Given the description of an element on the screen output the (x, y) to click on. 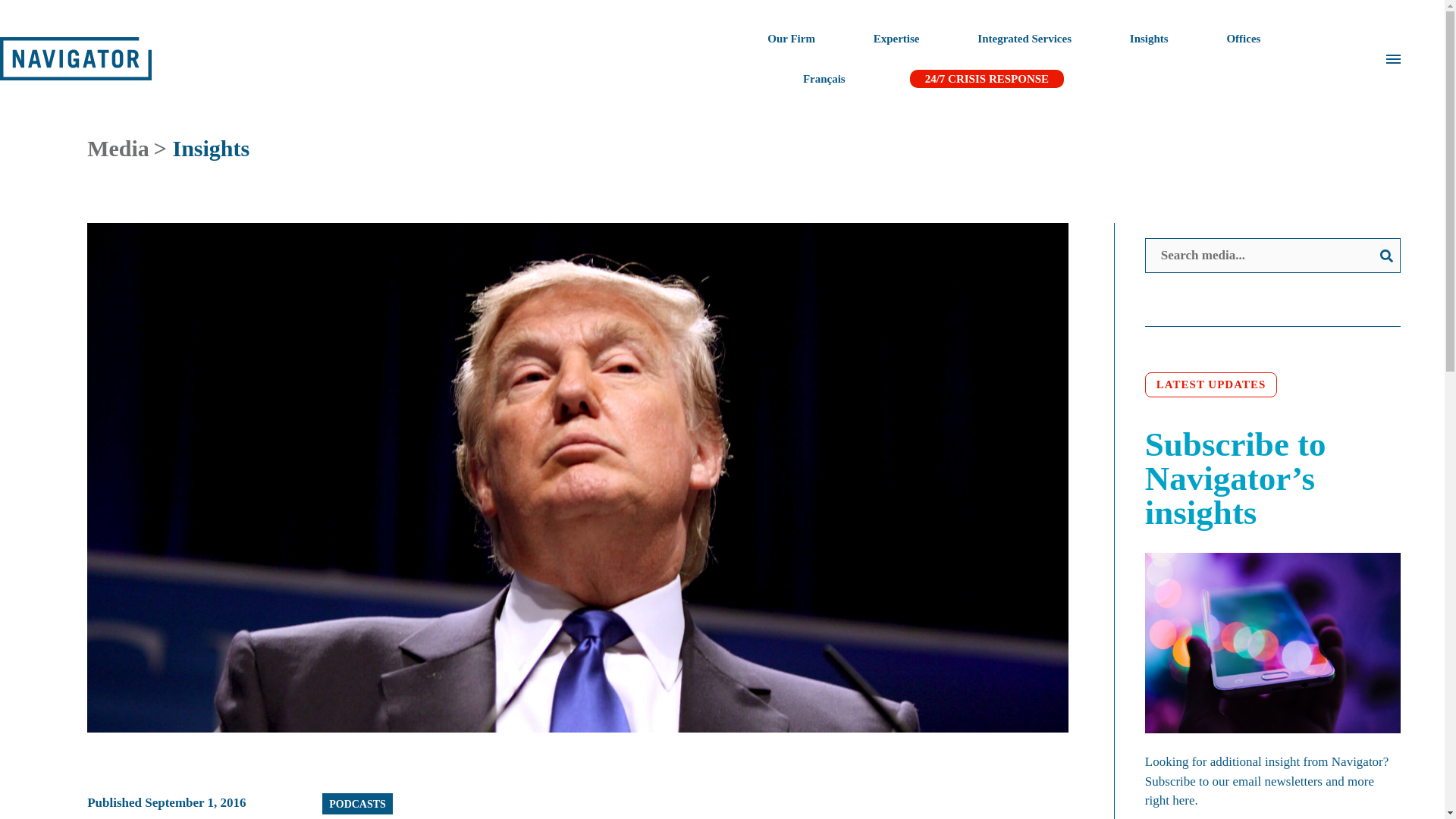
Integrated Services (1023, 38)
Insights (1149, 38)
Search media (1272, 255)
Expertise (896, 38)
Our Firm (791, 38)
